Given the description of an element on the screen output the (x, y) to click on. 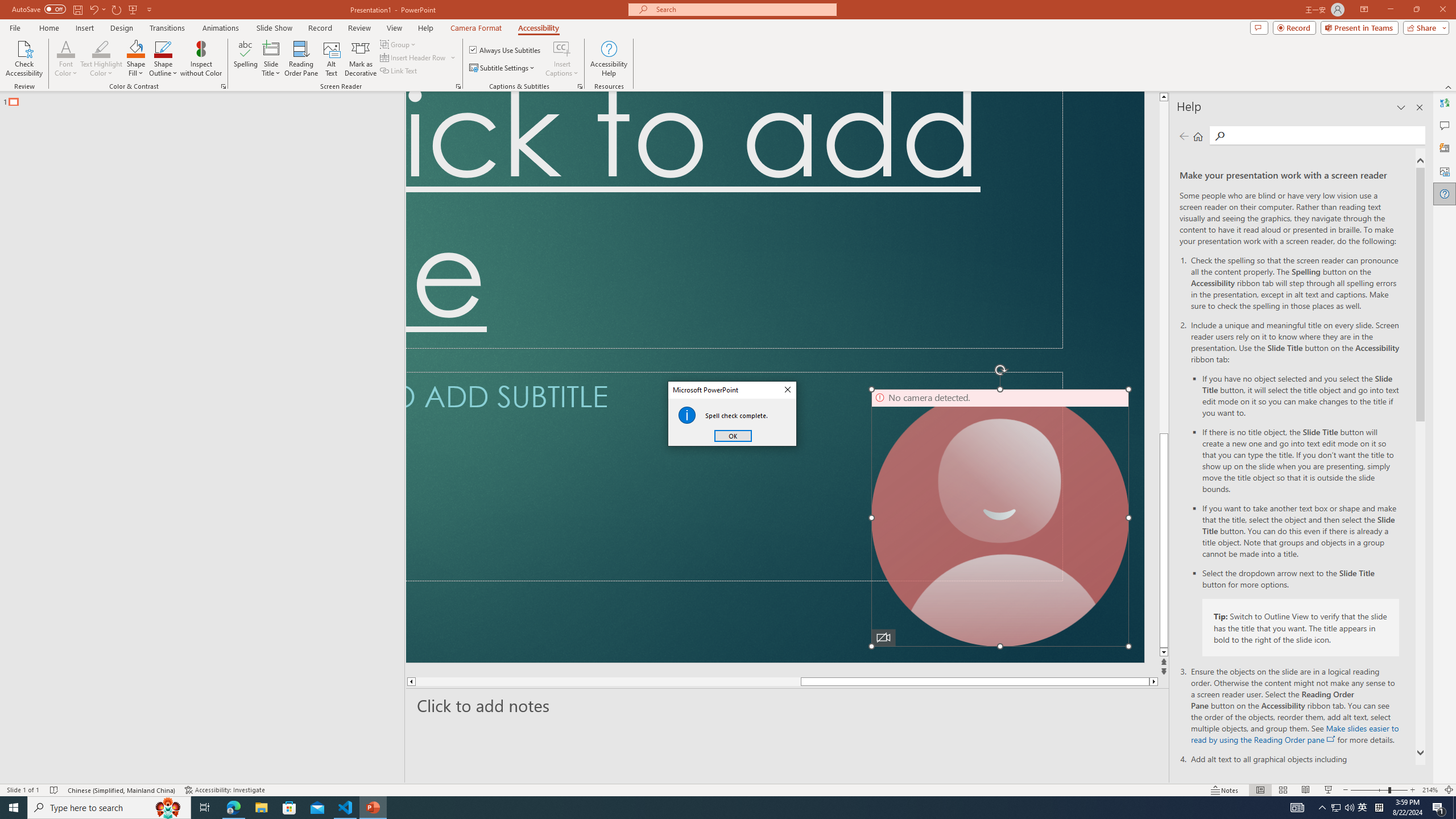
Color & Contrast (223, 85)
